Given the description of an element on the screen output the (x, y) to click on. 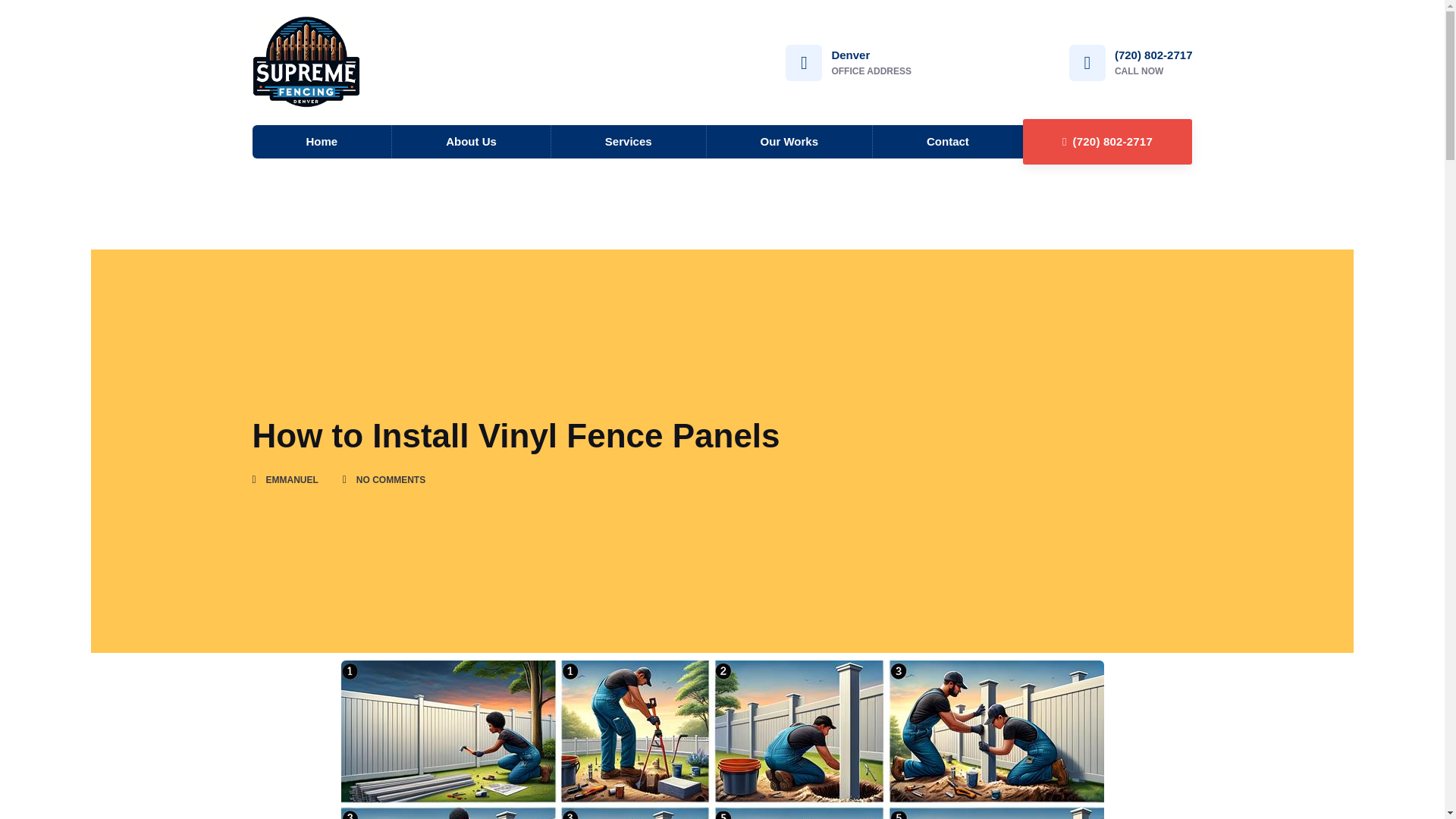
Our Works (789, 141)
NO COMMENTS (383, 480)
Denver (850, 54)
Contact (947, 141)
Services (628, 141)
About Us (470, 141)
EMMANUEL (284, 480)
Home (321, 141)
